Given the description of an element on the screen output the (x, y) to click on. 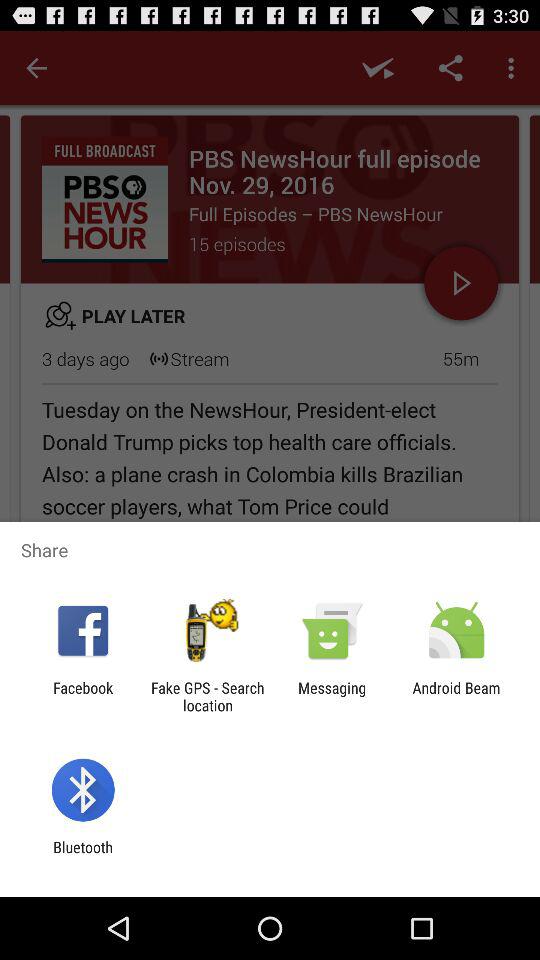
turn on facebook (83, 696)
